Given the description of an element on the screen output the (x, y) to click on. 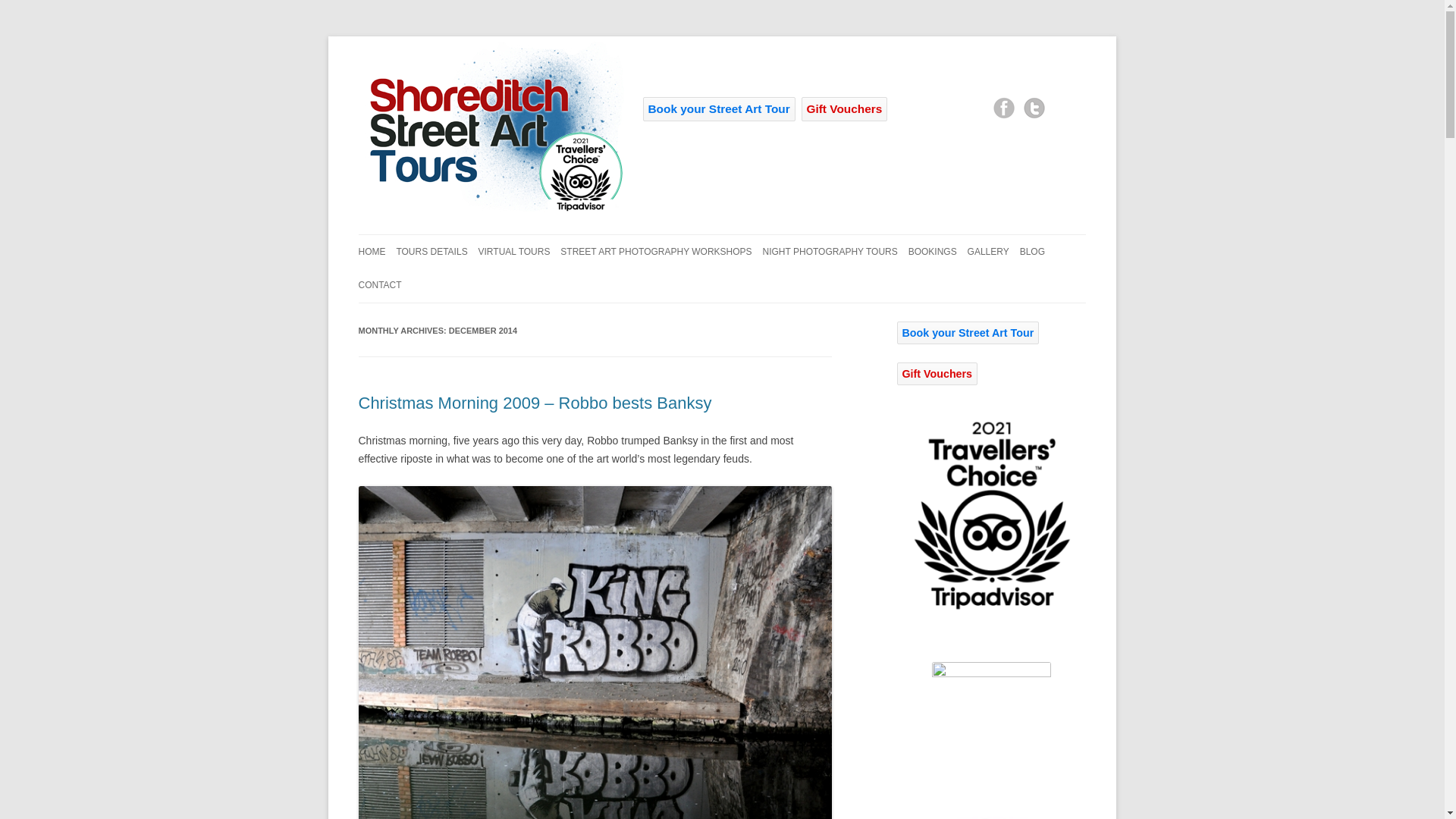
TOURS DETAILS (431, 251)
GALLERY (988, 251)
STREET ART PHOTOGRAPHY WORKSHOPS (655, 251)
Shoreditch Street Art Tours London Street Art Tours (490, 210)
Street Art Photography Tour in London (490, 125)
Book your Street Art Tour (718, 109)
NIGHT PHOTOGRAPHY TOURS (830, 251)
BOOKINGS (932, 251)
CONTACT (379, 285)
Skip to content (757, 239)
